Given the description of an element on the screen output the (x, y) to click on. 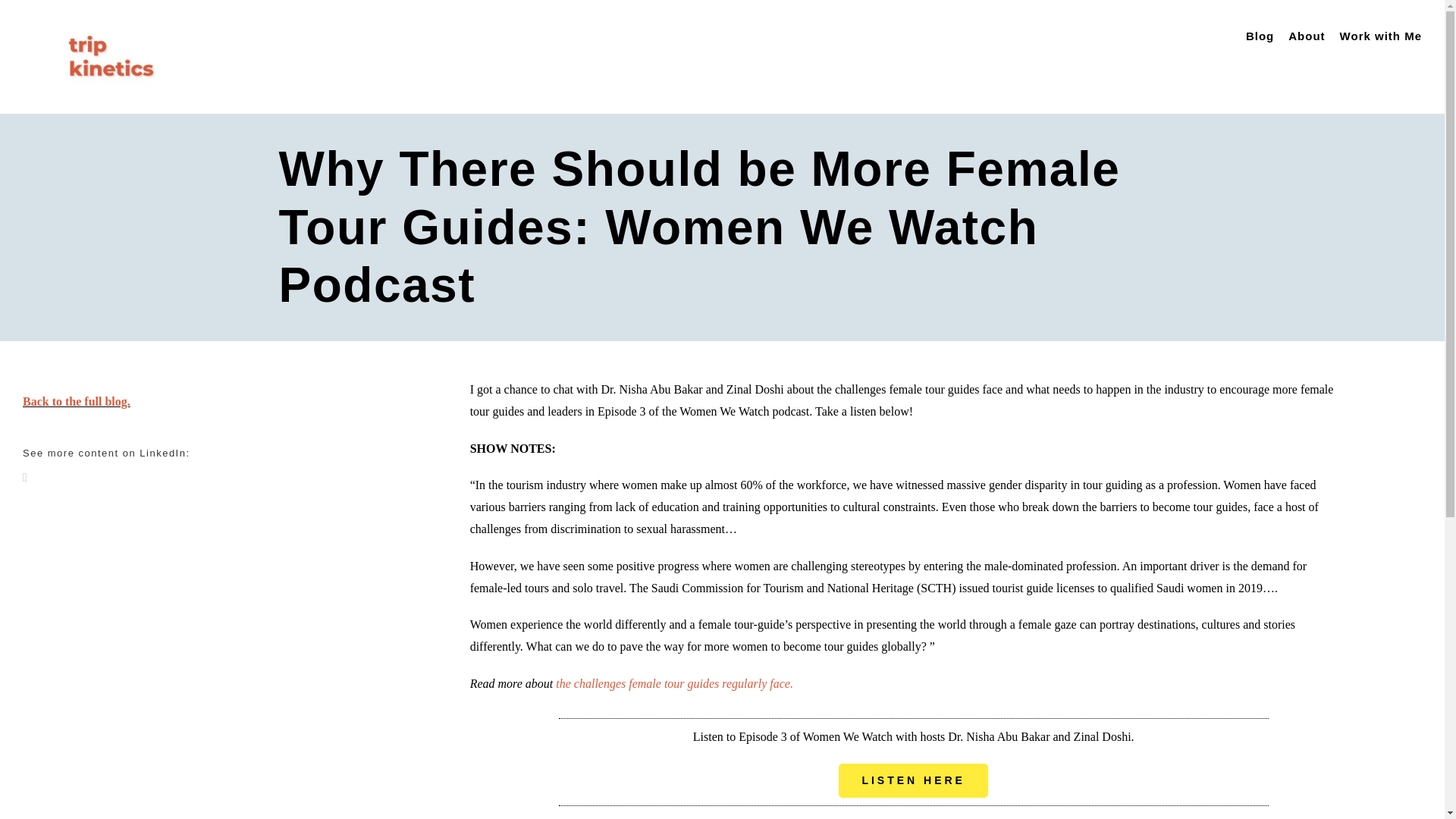
Back to the full blog. (77, 400)
the challenges female tour guides regularly face. (674, 683)
LISTEN HERE (913, 780)
Work with Me (1380, 36)
